Given the description of an element on the screen output the (x, y) to click on. 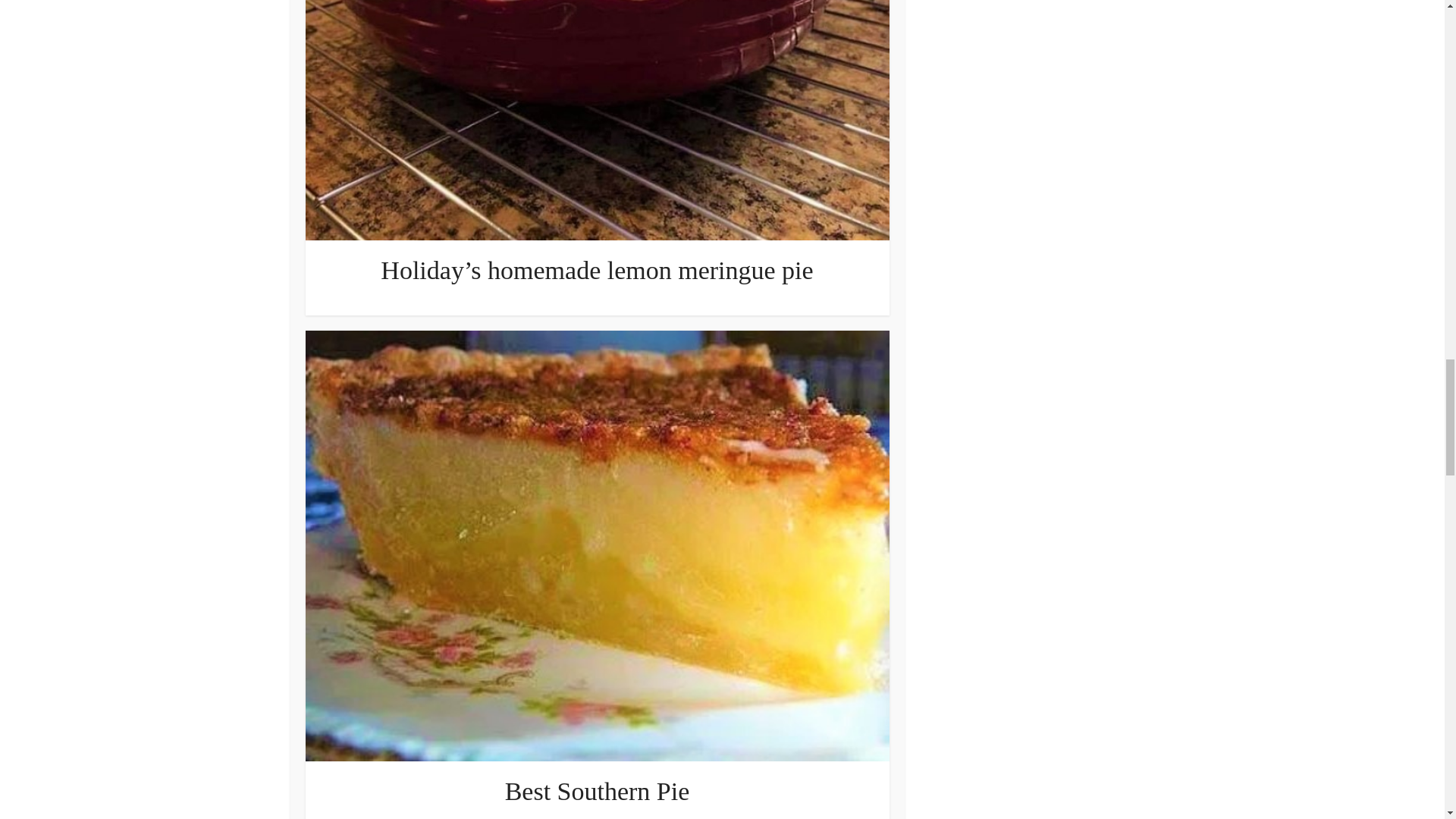
Best Southern Pie (597, 791)
Best Southern Pie (597, 791)
